Given the description of an element on the screen output the (x, y) to click on. 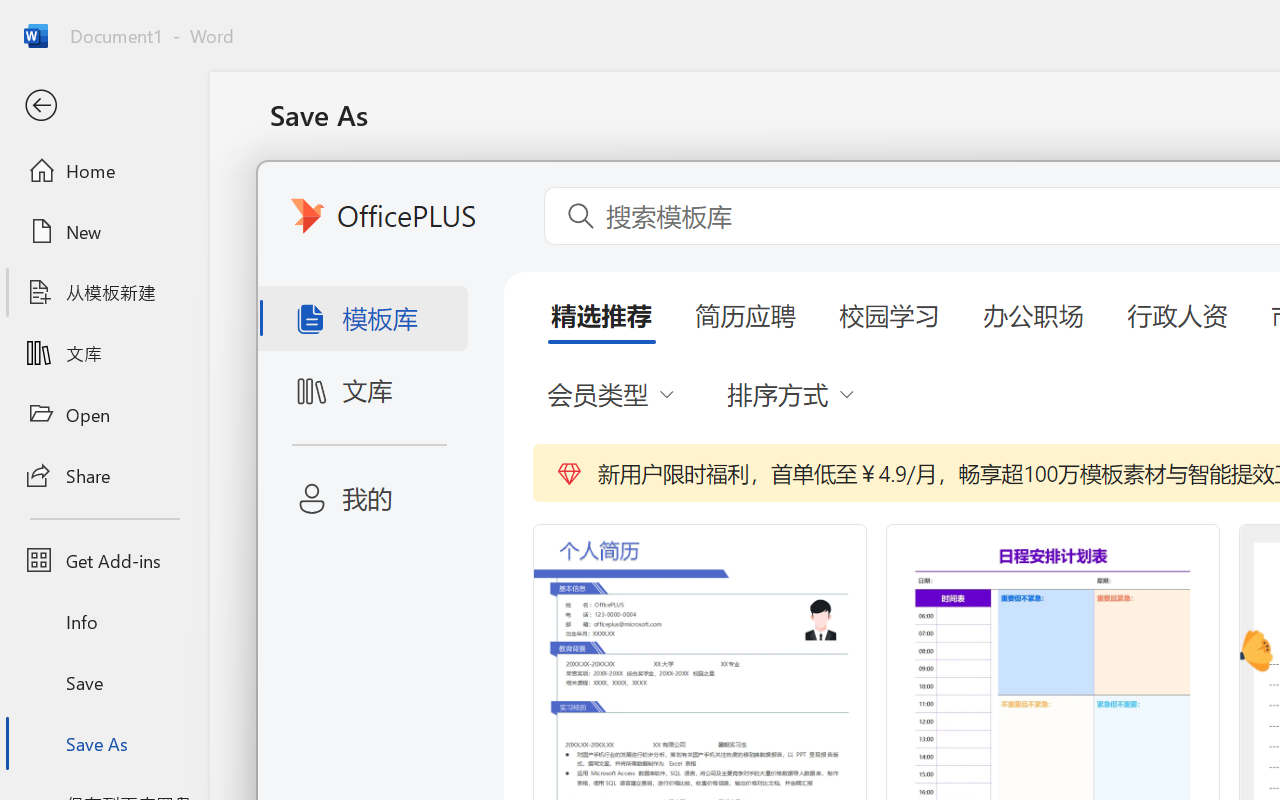
Get Add-ins (104, 560)
New (104, 231)
Back (104, 106)
